Given the description of an element on the screen output the (x, y) to click on. 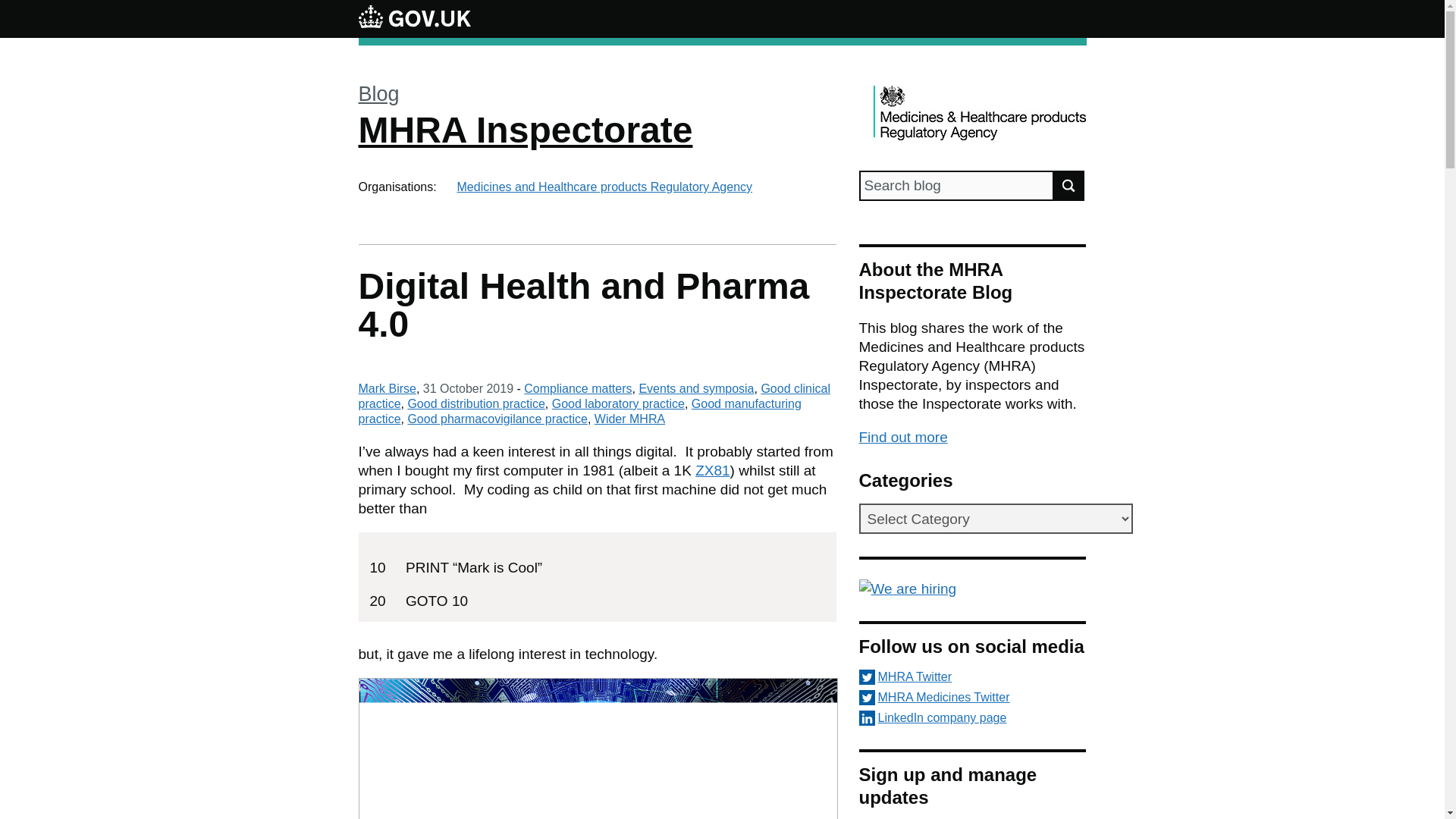
Events and symposia (696, 388)
Good manufacturing practice (579, 411)
Find out more (903, 437)
Blog (378, 93)
Good laboratory practice (617, 403)
Compliance matters (577, 388)
Search (1069, 185)
LinkedIn company page (972, 717)
Go to the GOV.UK homepage (414, 18)
Medicines and Healthcare products Regulatory Agency (604, 186)
MHRA Inspectorate (525, 129)
Good clinical practice (593, 396)
Wider MHRA (629, 418)
MHRA Twitter (972, 676)
Good pharmacovigilance practice (496, 418)
